Given the description of an element on the screen output the (x, y) to click on. 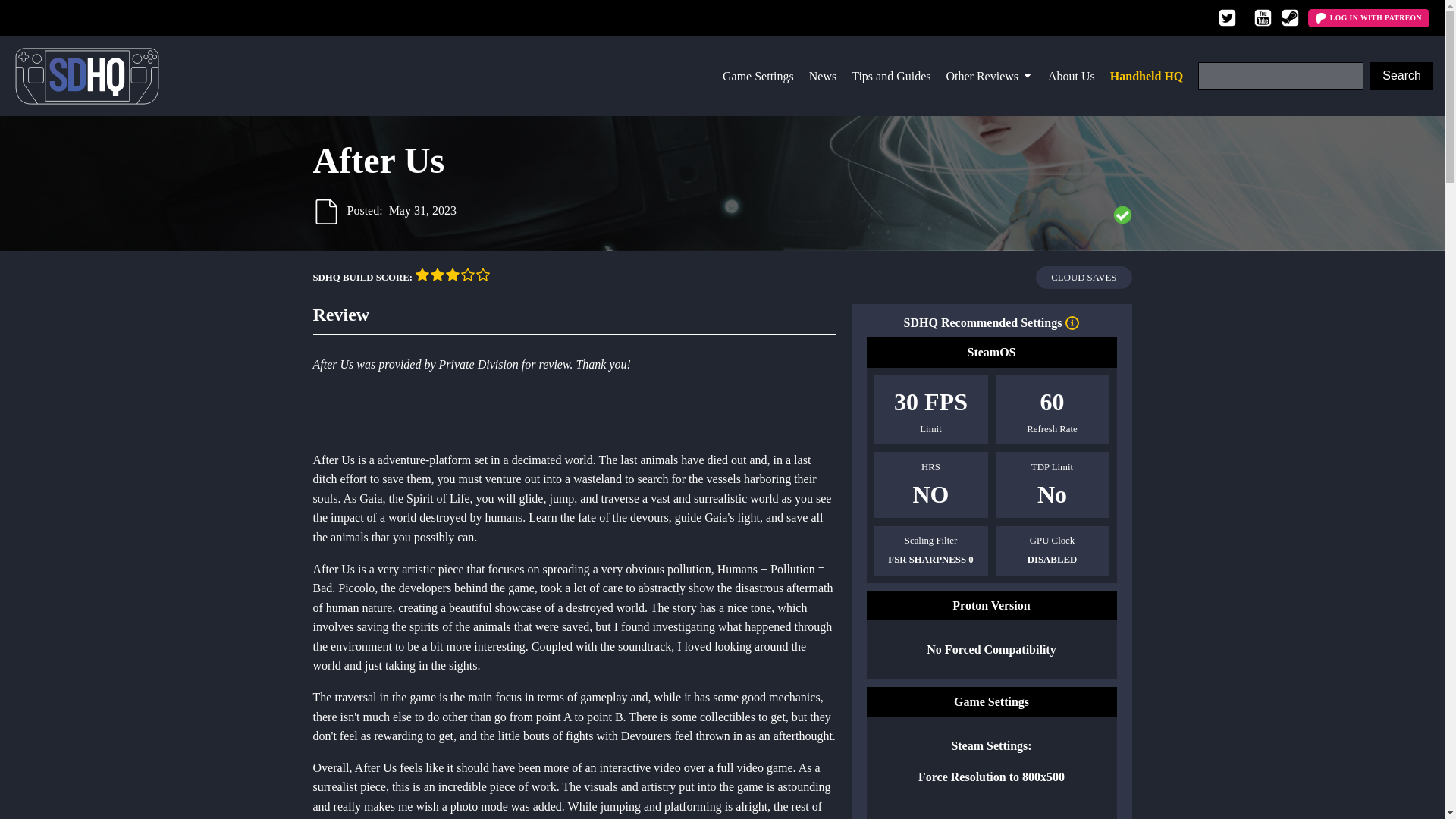
Search (1401, 75)
Game Settings (758, 76)
News (823, 76)
LOG IN WITH PATREON (1368, 18)
Search (1401, 75)
Other Reviews (990, 76)
Tips and Guides (890, 76)
Handheld HQ (1146, 76)
About Us (1071, 76)
